Given the description of an element on the screen output the (x, y) to click on. 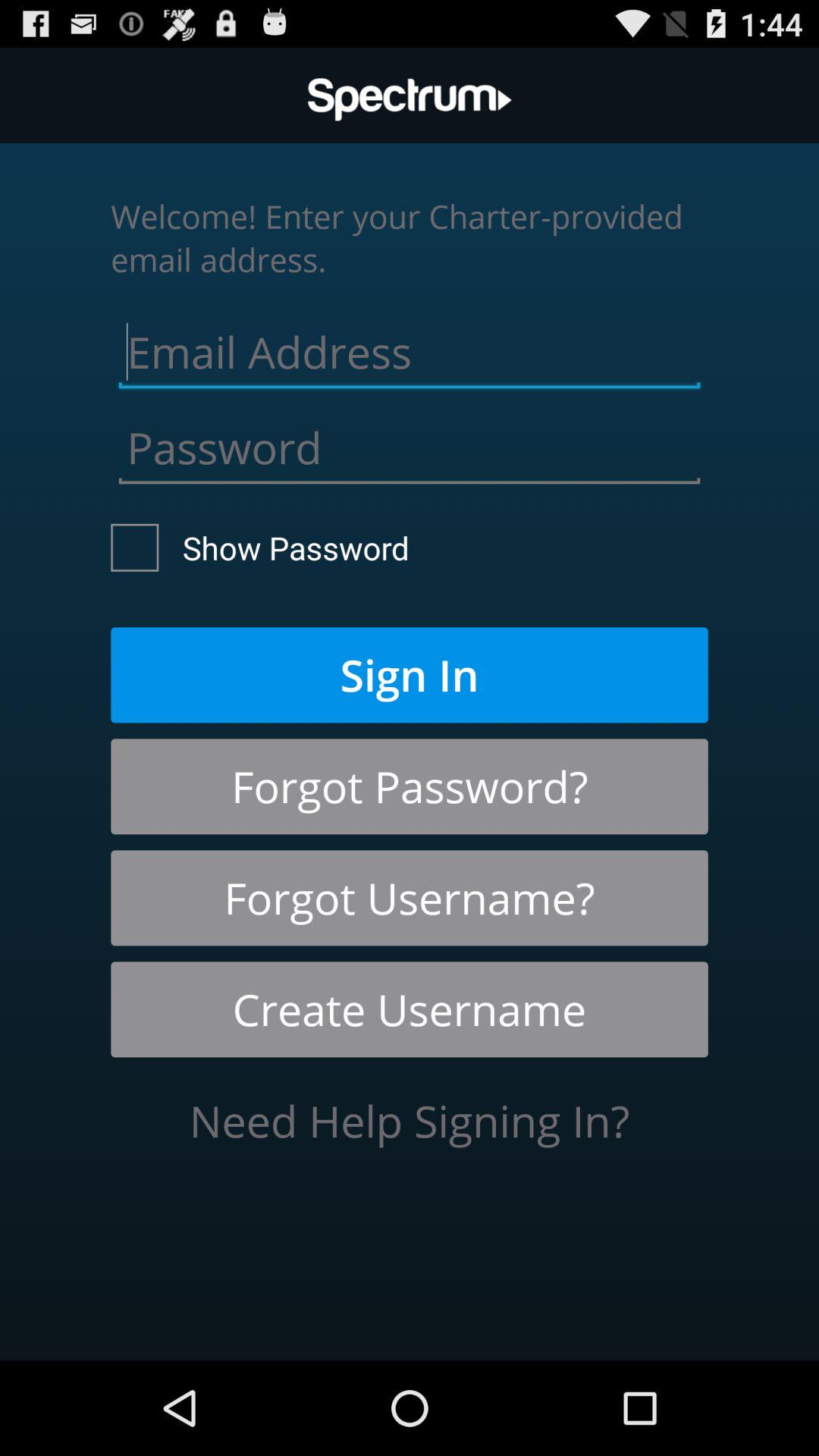
turn off need help signing (409, 1120)
